Given the description of an element on the screen output the (x, y) to click on. 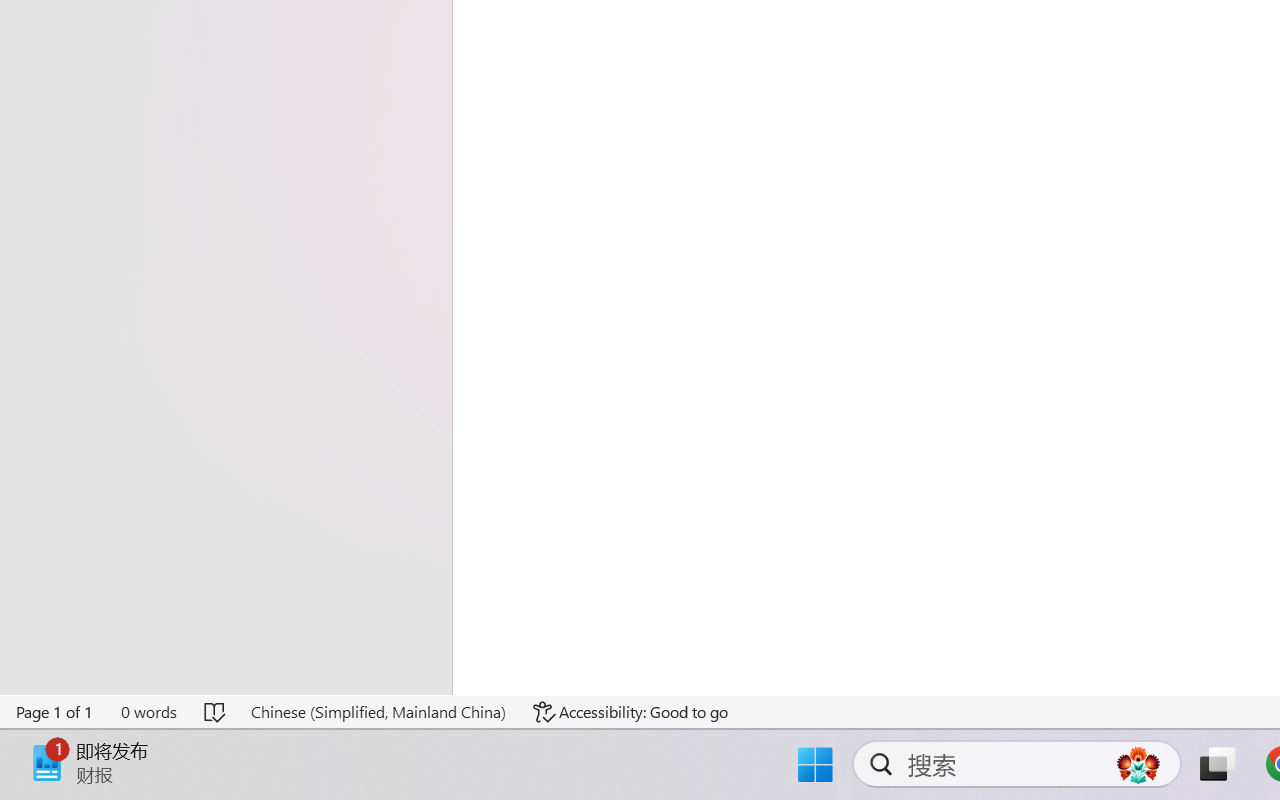
Language Chinese (Simplified, Mainland China) (378, 712)
